Given the description of an element on the screen output the (x, y) to click on. 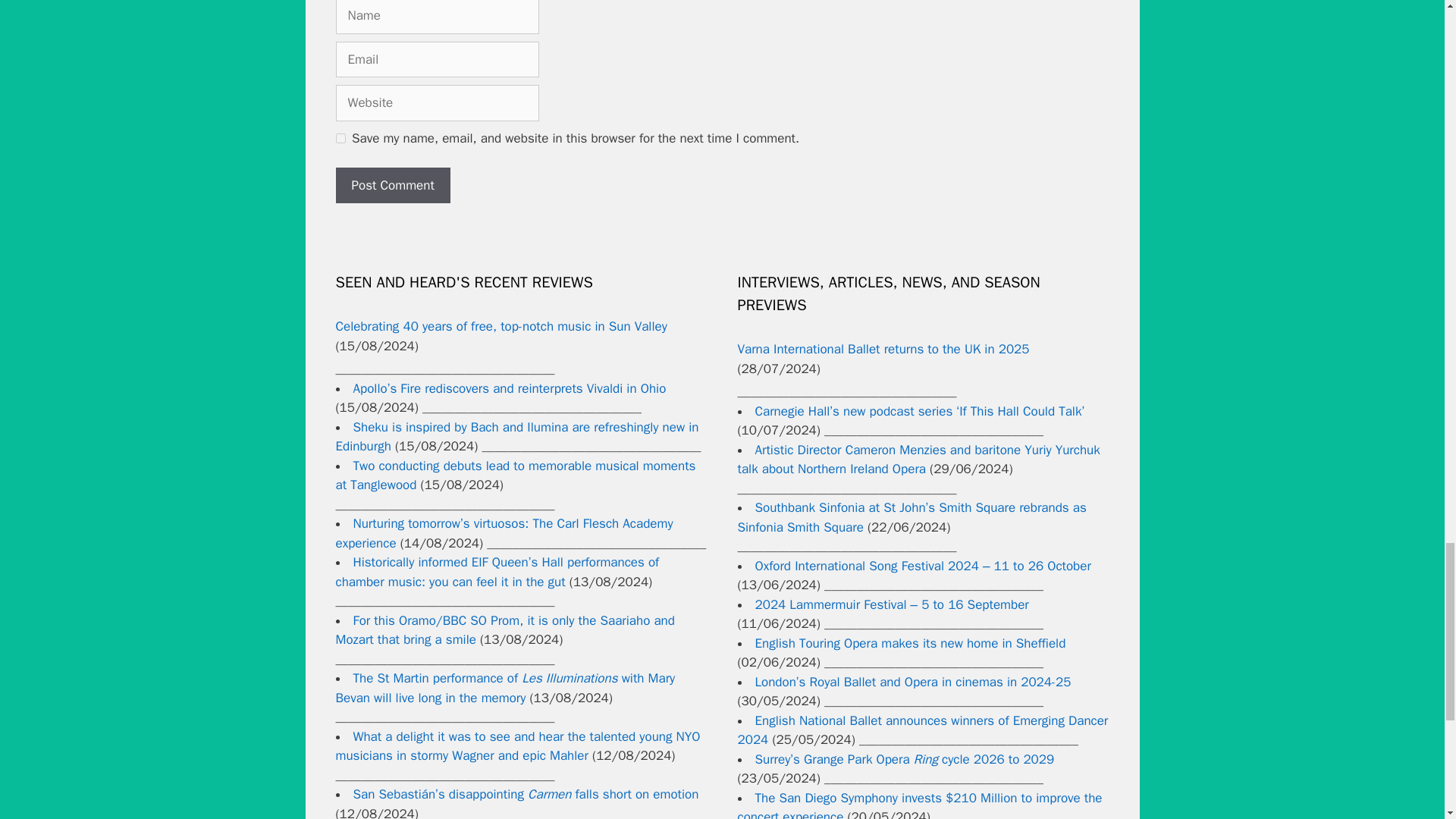
yes (339, 138)
Post Comment (391, 185)
